Given the description of an element on the screen output the (x, y) to click on. 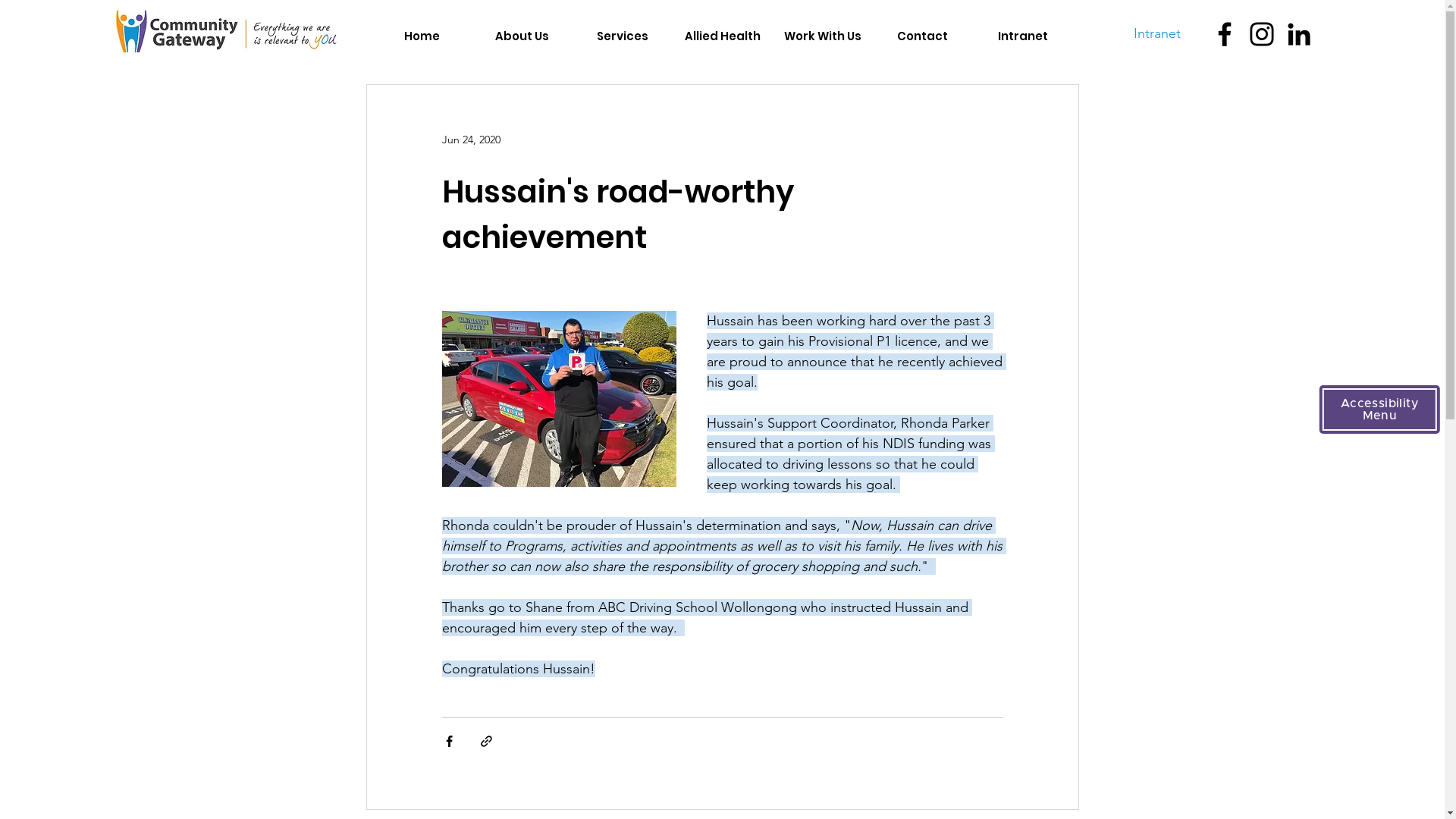
Contact Element type: text (922, 36)
Intranet Element type: text (1156, 33)
Home Element type: text (421, 36)
About Us Element type: text (521, 36)
Services Element type: text (621, 36)
Intranet Element type: text (1022, 36)
